Given the description of an element on the screen output the (x, y) to click on. 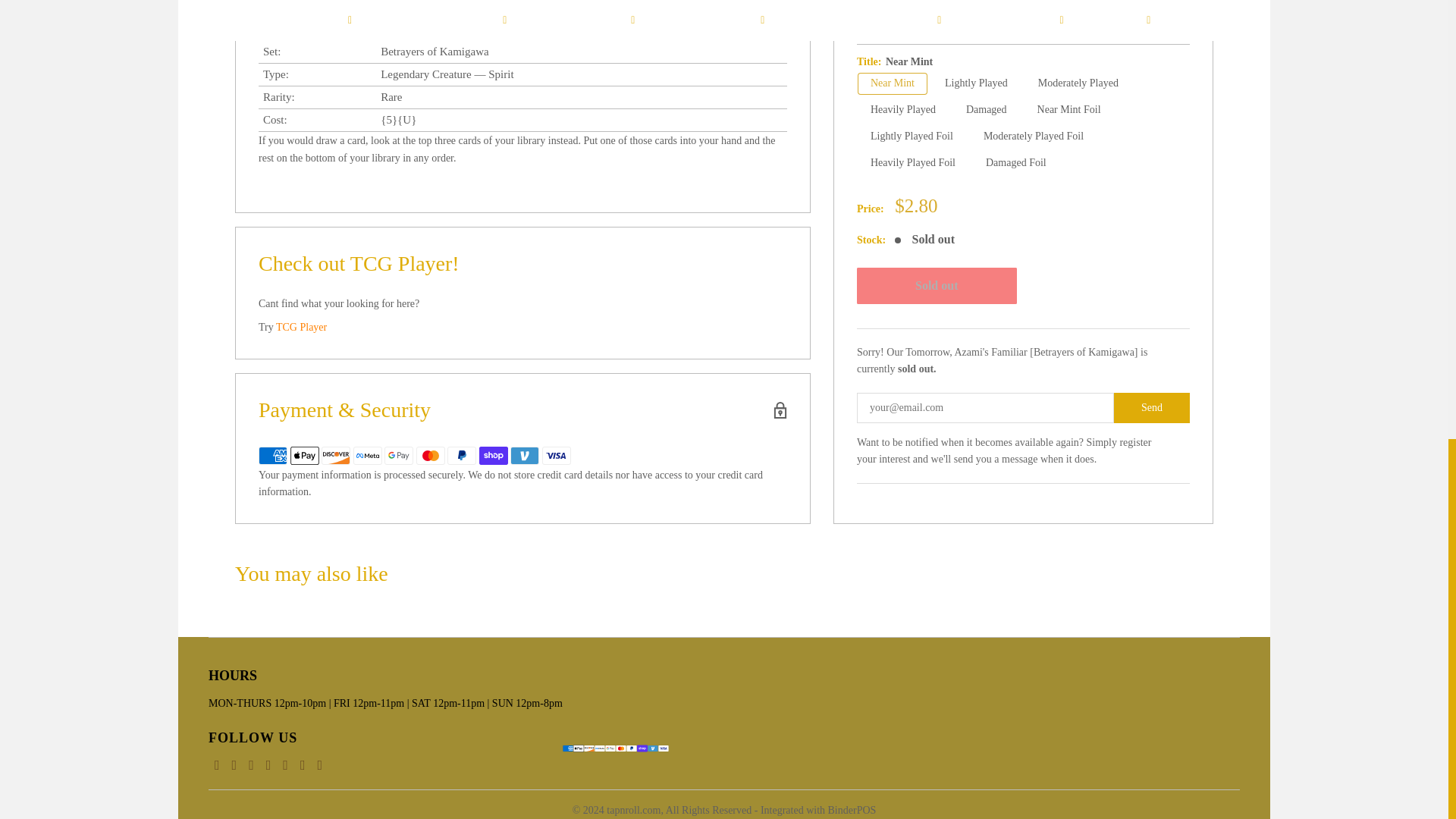
American Express (567, 747)
Google Pay (398, 455)
Apple Pay (578, 747)
American Express (272, 455)
Apple Pay (303, 455)
Meta Pay (367, 455)
TCGplayer.com (301, 326)
Mastercard (429, 455)
Shop Pay (493, 455)
PayPal (461, 455)
Visa (555, 455)
Venmo (524, 455)
Discover (335, 455)
